Given the description of an element on the screen output the (x, y) to click on. 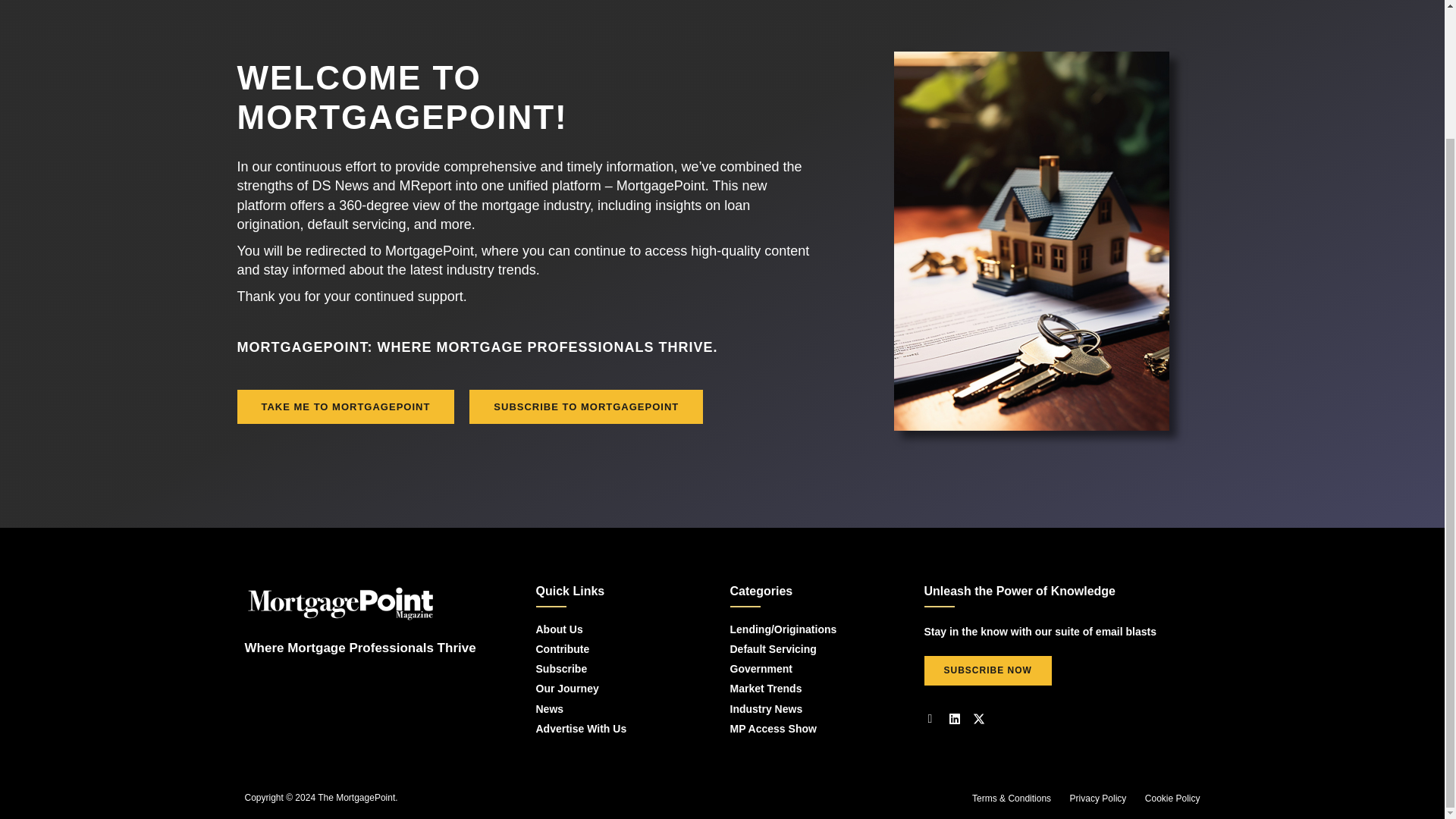
TAKE ME TO MORTGAGEPOINT (344, 406)
Contribute (612, 649)
themp-logo-w - The MortgagePoint (339, 602)
Our Journey (612, 688)
News (612, 708)
About Us (612, 629)
SUBSCRIBE TO MORTGAGEPOINT (585, 406)
Advertise With Us (612, 728)
Subscribe (612, 668)
